Given the description of an element on the screen output the (x, y) to click on. 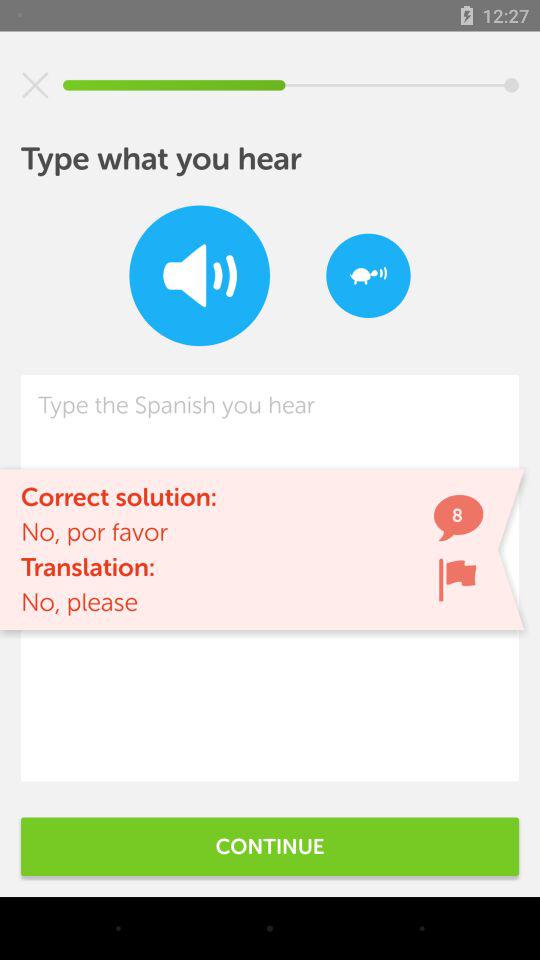
turn off icon above type what you icon (35, 85)
